Given the description of an element on the screen output the (x, y) to click on. 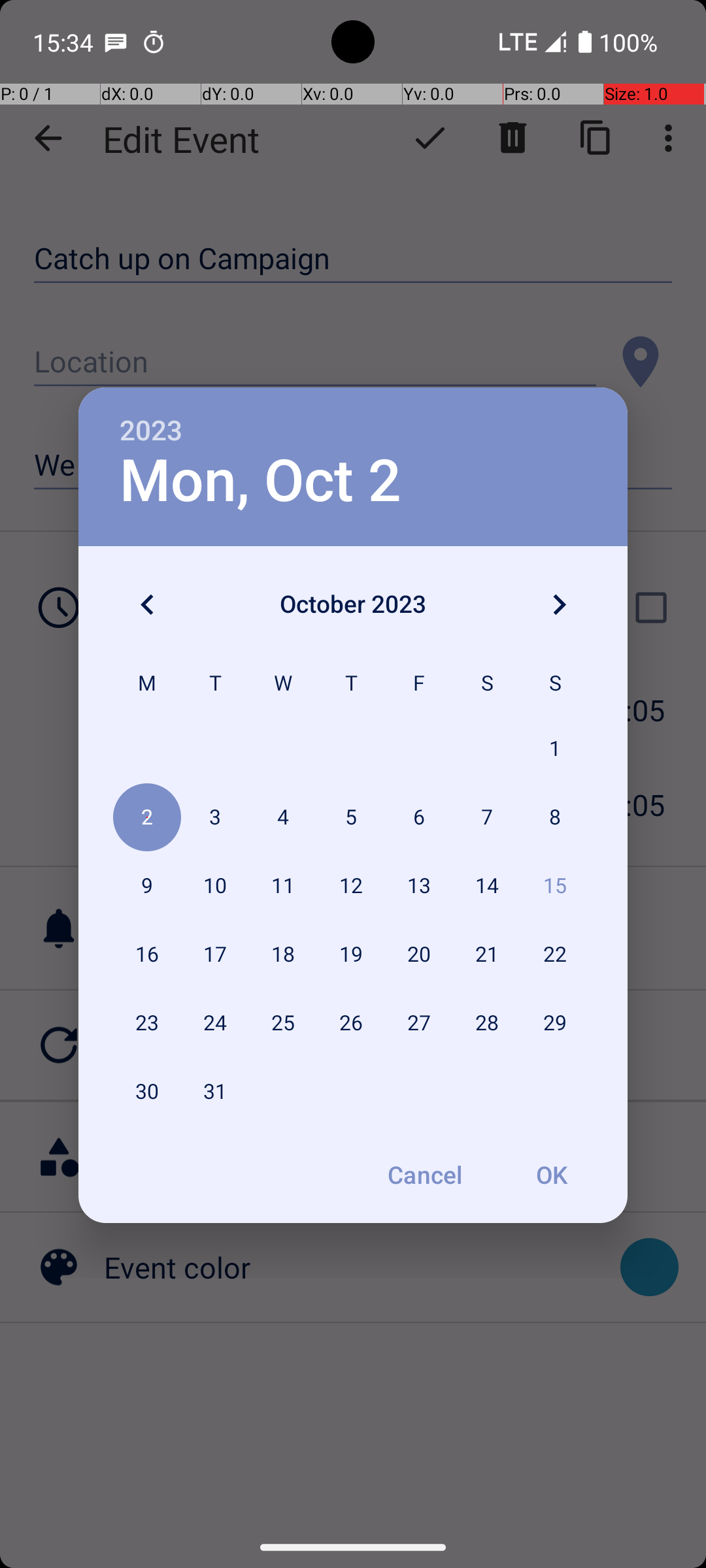
Mon, Oct 2 Element type: android.widget.TextView (260, 480)
